Given the description of an element on the screen output the (x, y) to click on. 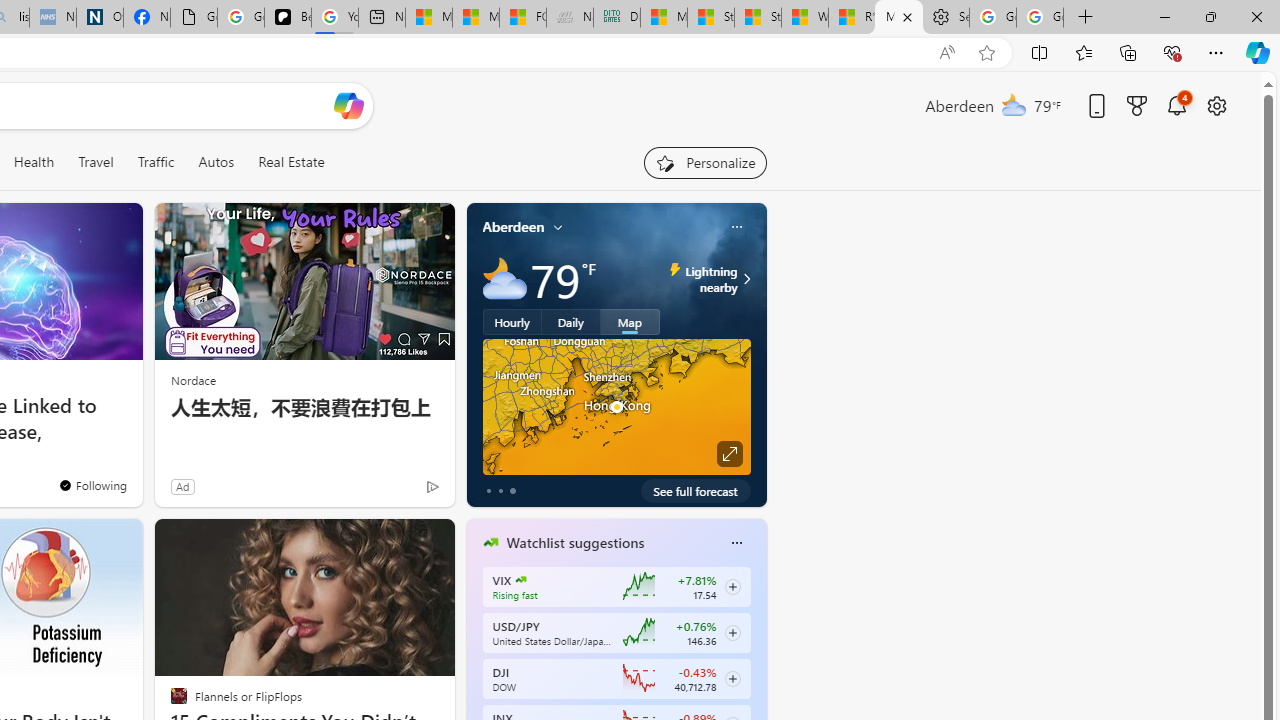
FOX News - MSN (523, 17)
Class: follow-button  m (732, 678)
Hourly (511, 321)
My location (558, 227)
Mostly cloudy (504, 278)
